Given the description of an element on the screen output the (x, y) to click on. 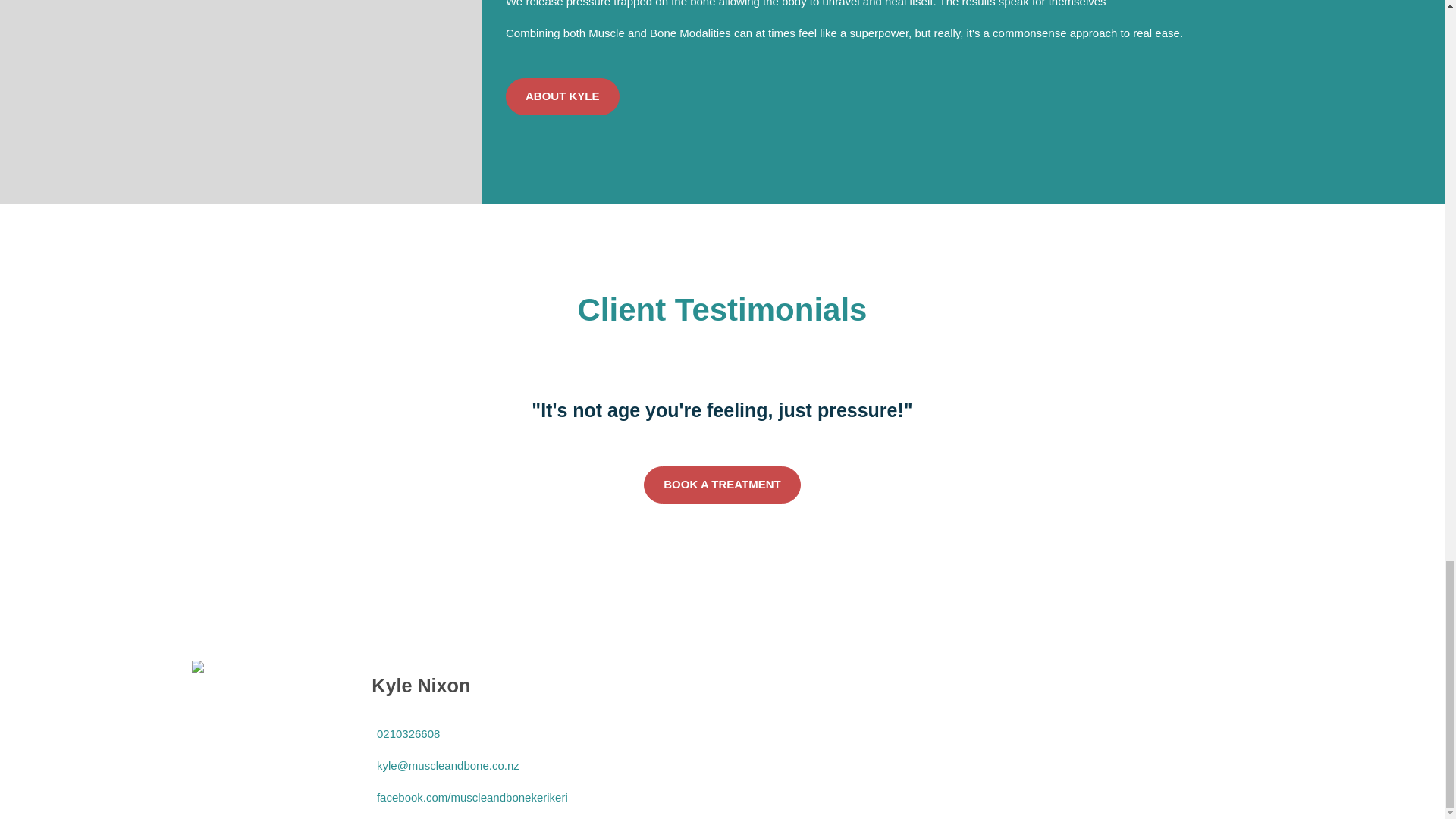
BOOK A TREATMENT (721, 484)
0210326608 (405, 733)
ABOUT KYLE (562, 96)
